Given the description of an element on the screen output the (x, y) to click on. 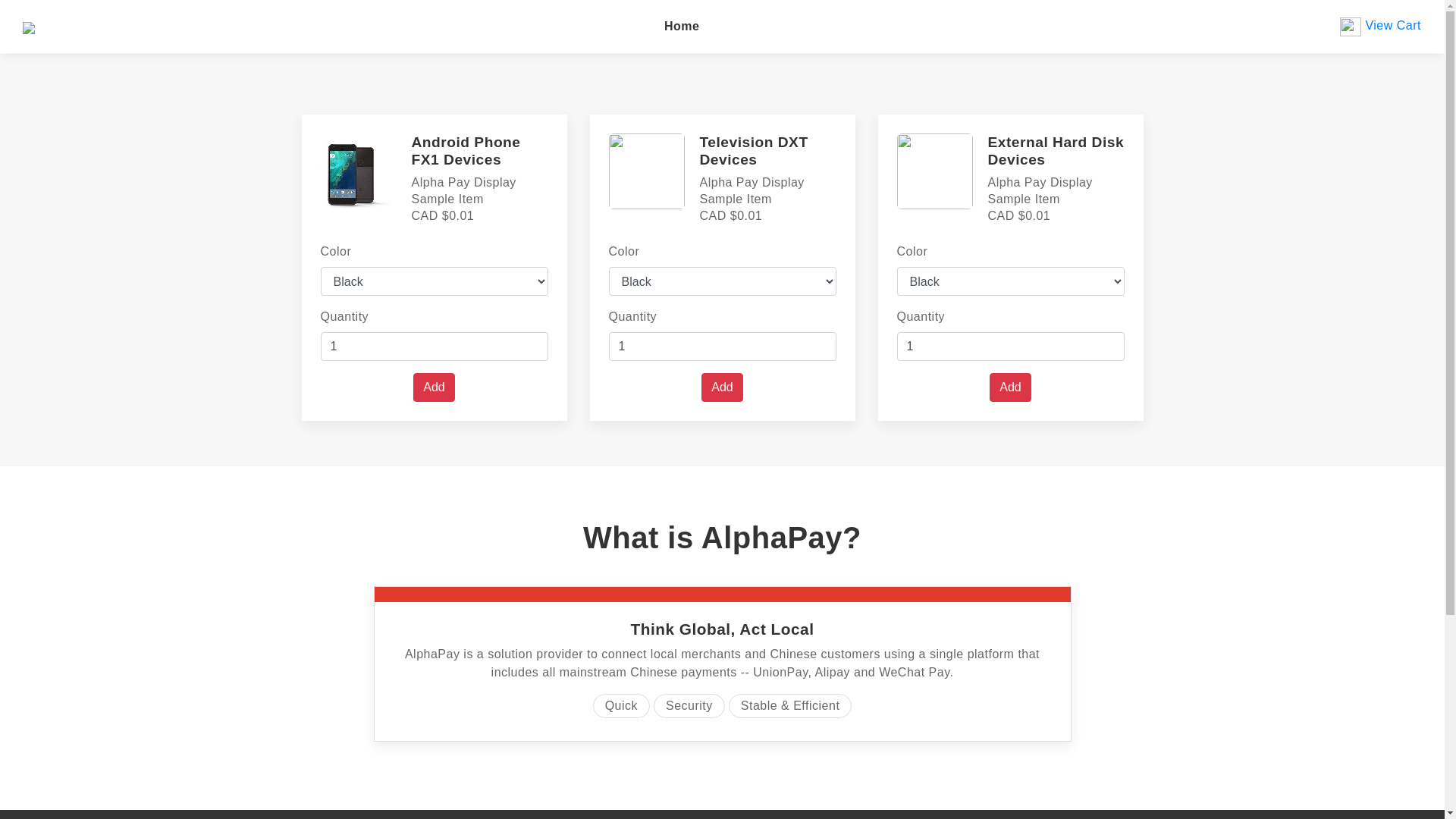
Quick Element type: text (621, 705)
Think Global, Act Local Element type: text (722, 628)
Security Element type: text (688, 705)
Home Element type: text (681, 26)
External Hard Disk Devices Element type: text (1055, 150)
Android Phone FX1 Devices Element type: text (465, 150)
Stable & Efficient Element type: text (790, 705)
Add Element type: text (721, 387)
Television DXT Devices Element type: text (753, 150)
Add Element type: text (1009, 387)
View Cart Element type: text (1380, 24)
Add Element type: text (433, 387)
